Given the description of an element on the screen output the (x, y) to click on. 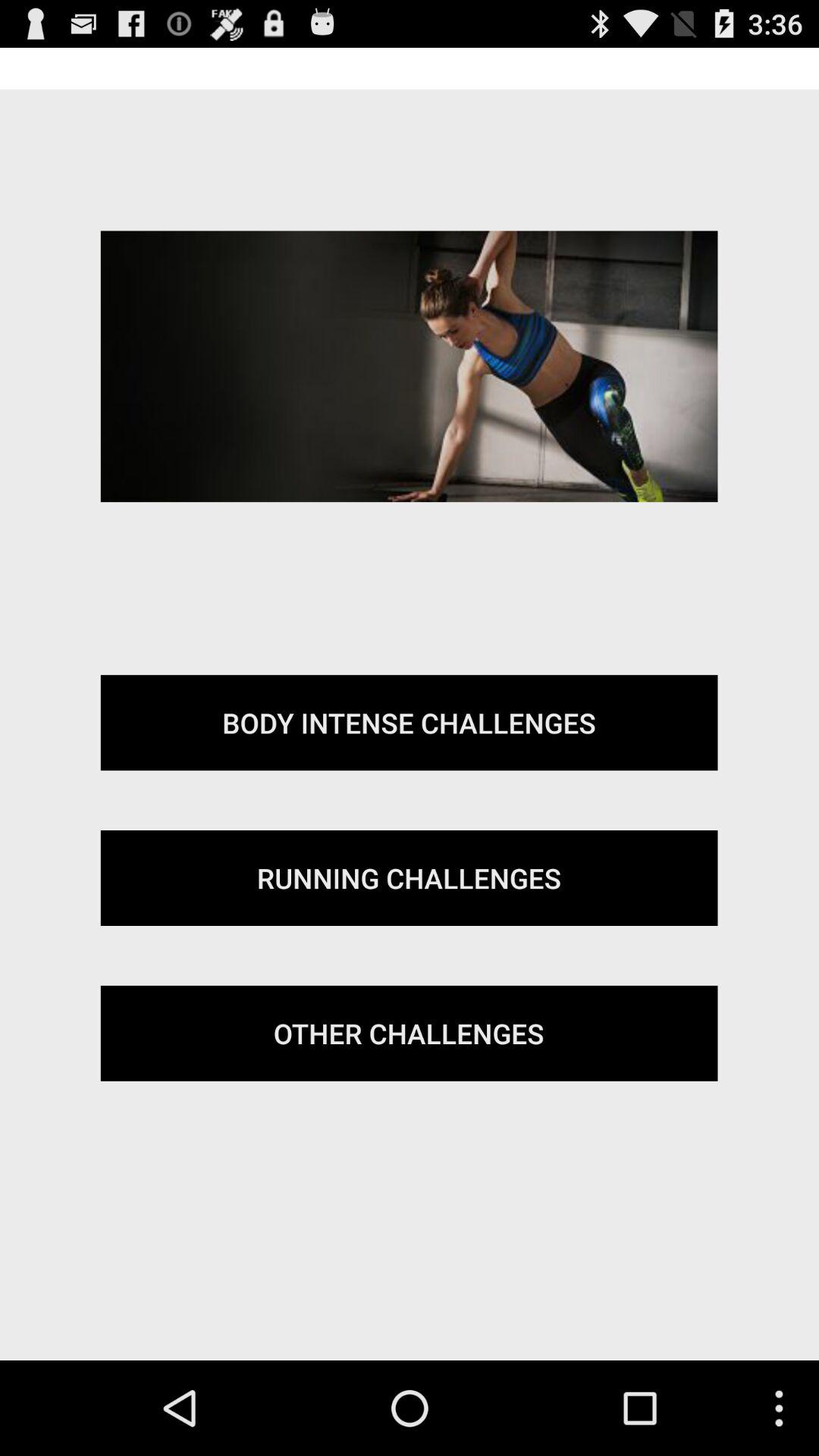
turn on the body intense challenges item (408, 722)
